Given the description of an element on the screen output the (x, y) to click on. 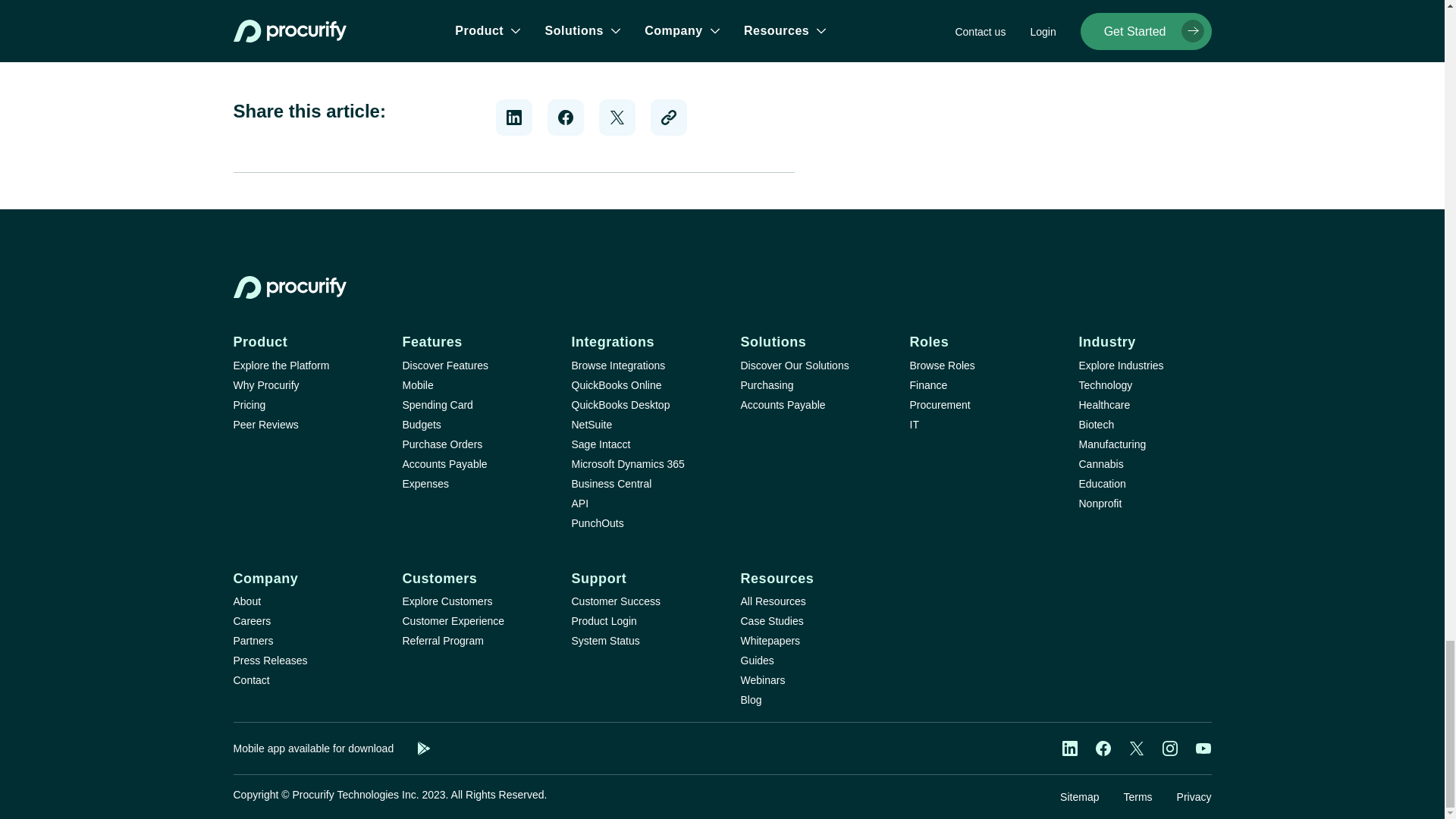
Share page on LinkedIn (513, 117)
